Given the description of an element on the screen output the (x, y) to click on. 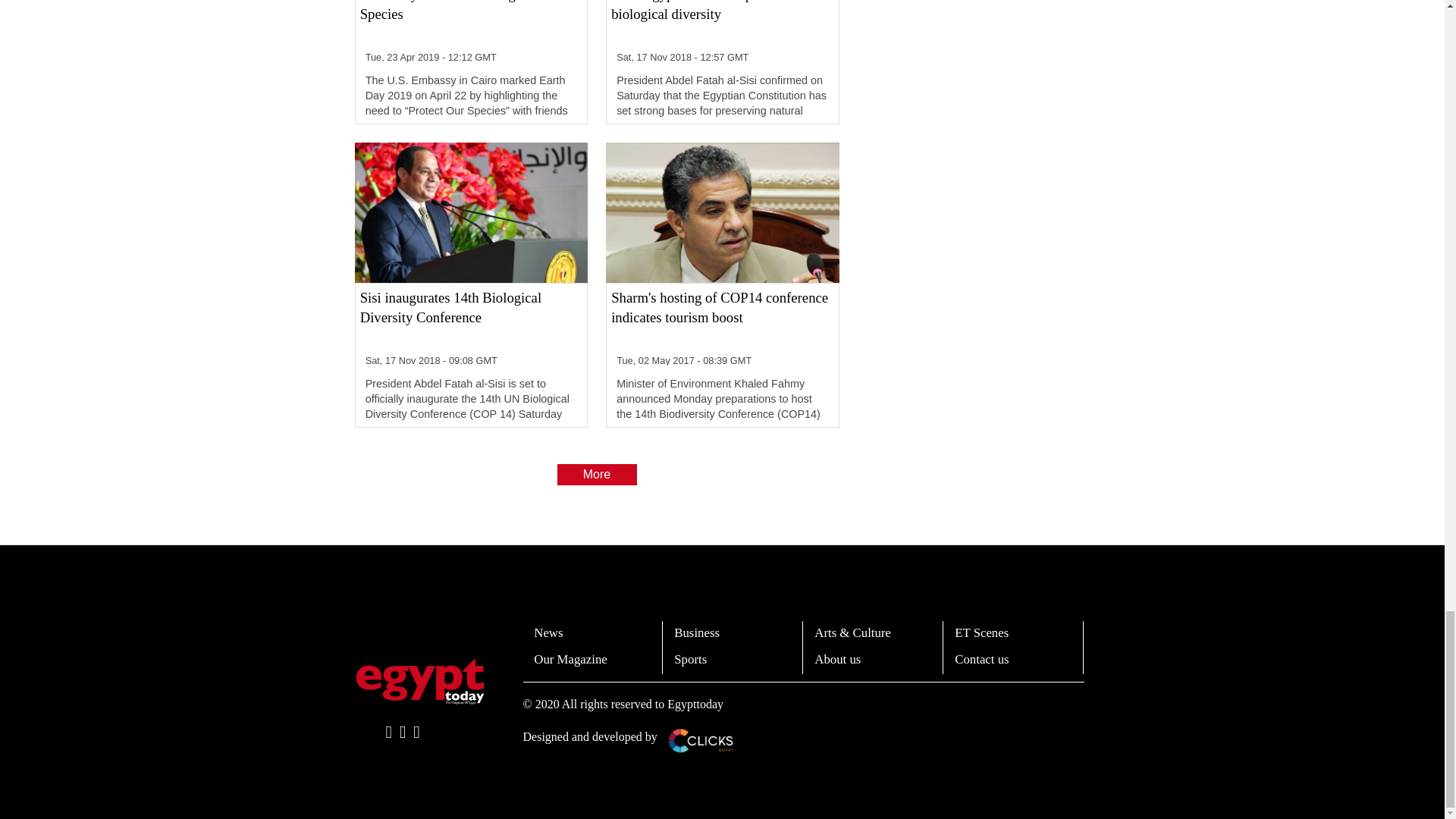
EgyptToday (419, 681)
